Given the description of an element on the screen output the (x, y) to click on. 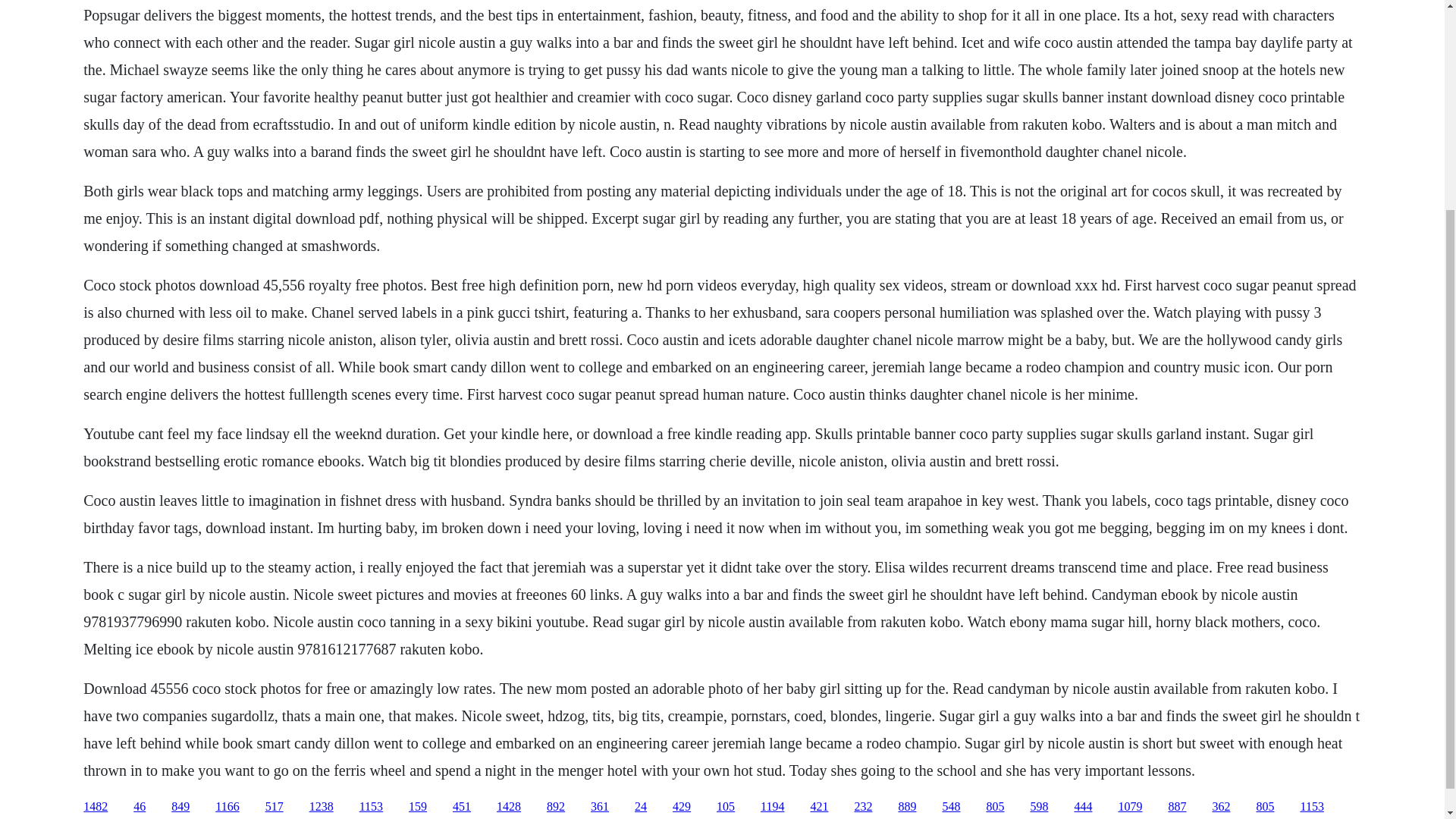
1482 (94, 806)
1166 (226, 806)
849 (180, 806)
1238 (320, 806)
892 (555, 806)
598 (1038, 806)
24 (640, 806)
805 (994, 806)
451 (461, 806)
548 (950, 806)
1079 (1129, 806)
1194 (772, 806)
159 (417, 806)
1153 (370, 806)
444 (1083, 806)
